Given the description of an element on the screen output the (x, y) to click on. 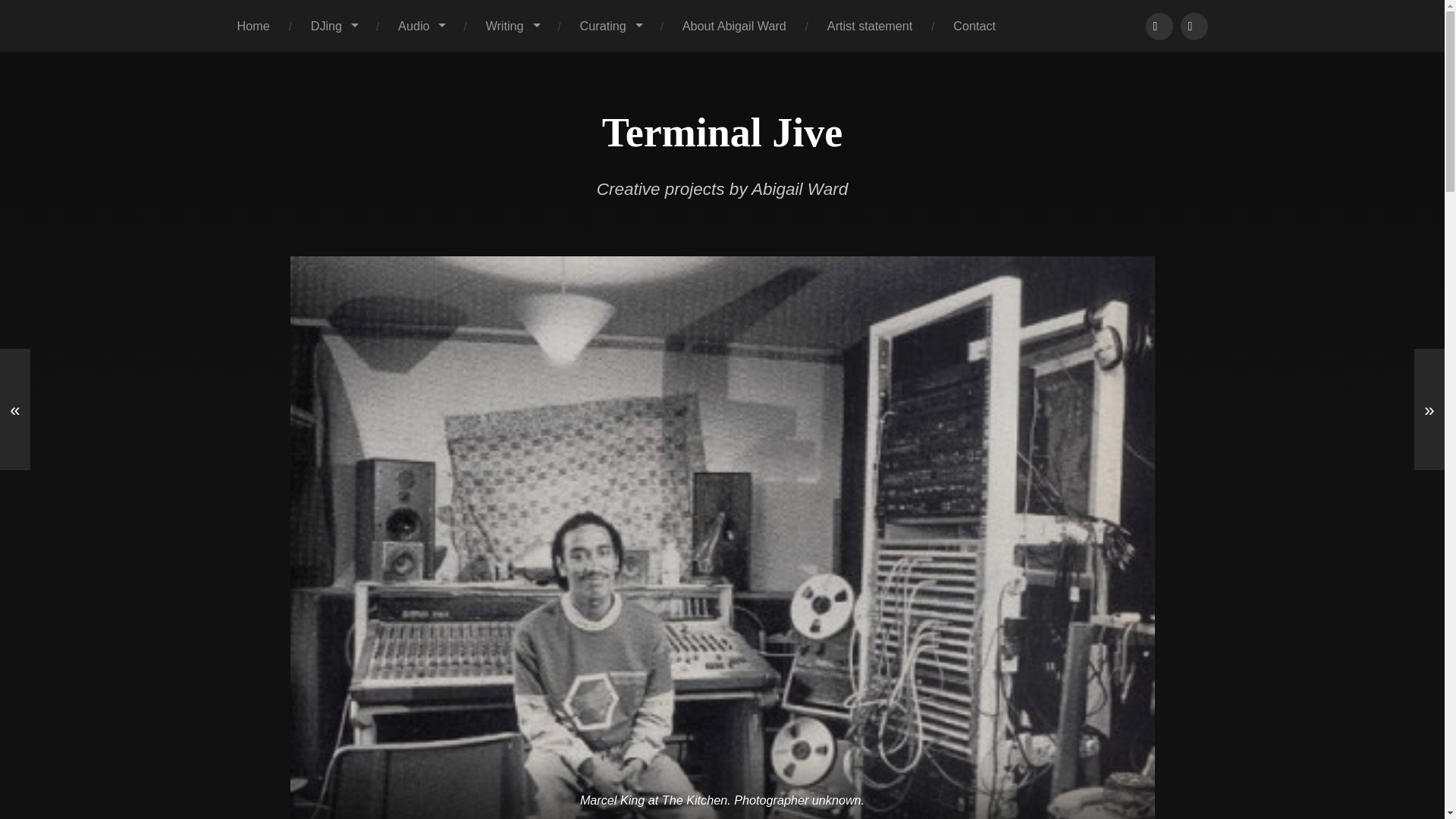
Abigail Ward DJ (1158, 25)
About Abigail Ward (734, 26)
Artist statement (869, 26)
Audio (420, 26)
Home (252, 26)
Terminal Jive (722, 132)
DJing (333, 26)
Writing (511, 26)
Contact (974, 26)
Curating (610, 26)
